Given the description of an element on the screen output the (x, y) to click on. 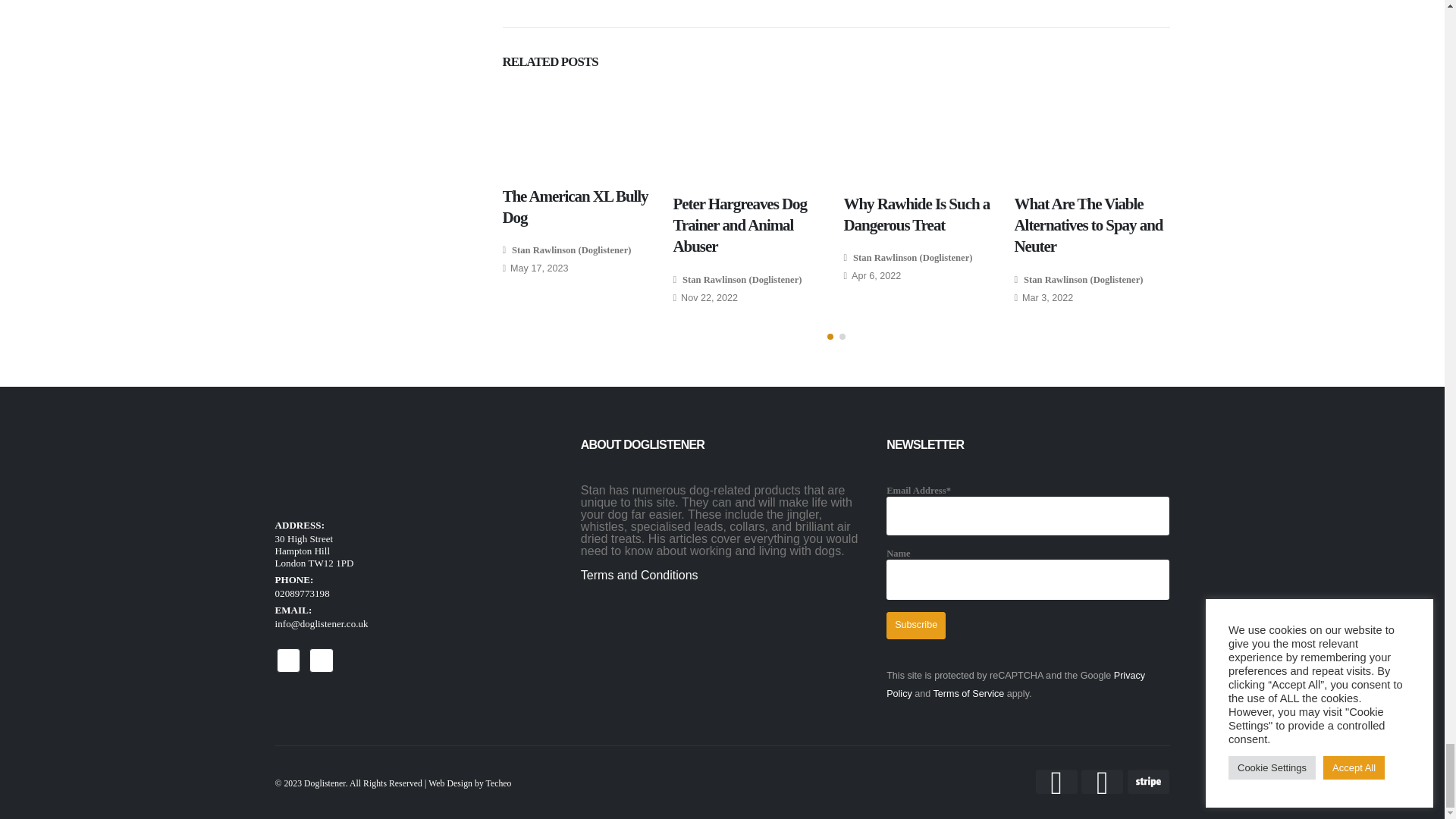
Subscribe (915, 625)
